Given the description of an element on the screen output the (x, y) to click on. 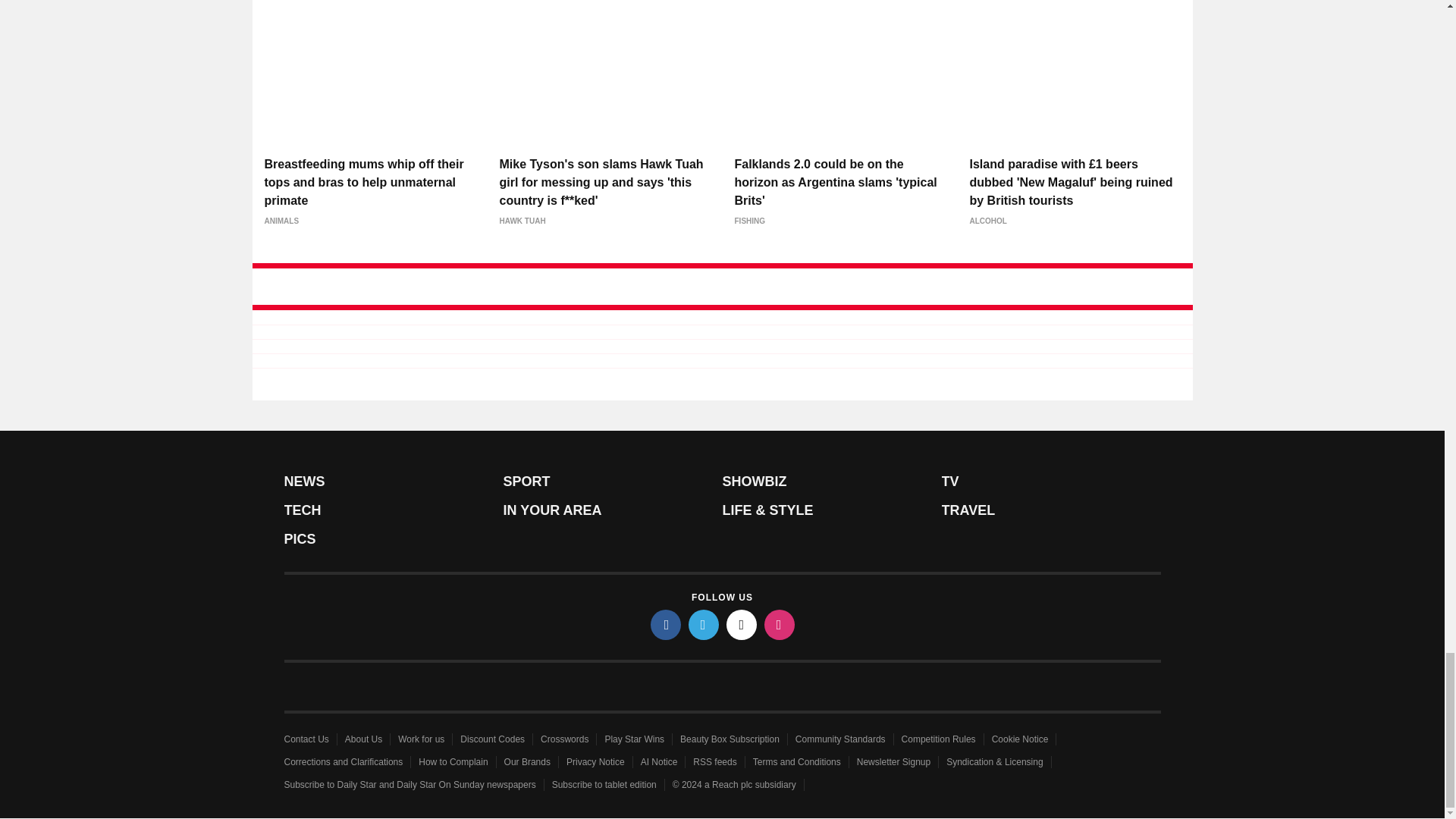
twitter (703, 624)
facebook (665, 624)
instagram (779, 624)
tiktok (741, 624)
